Given the description of an element on the screen output the (x, y) to click on. 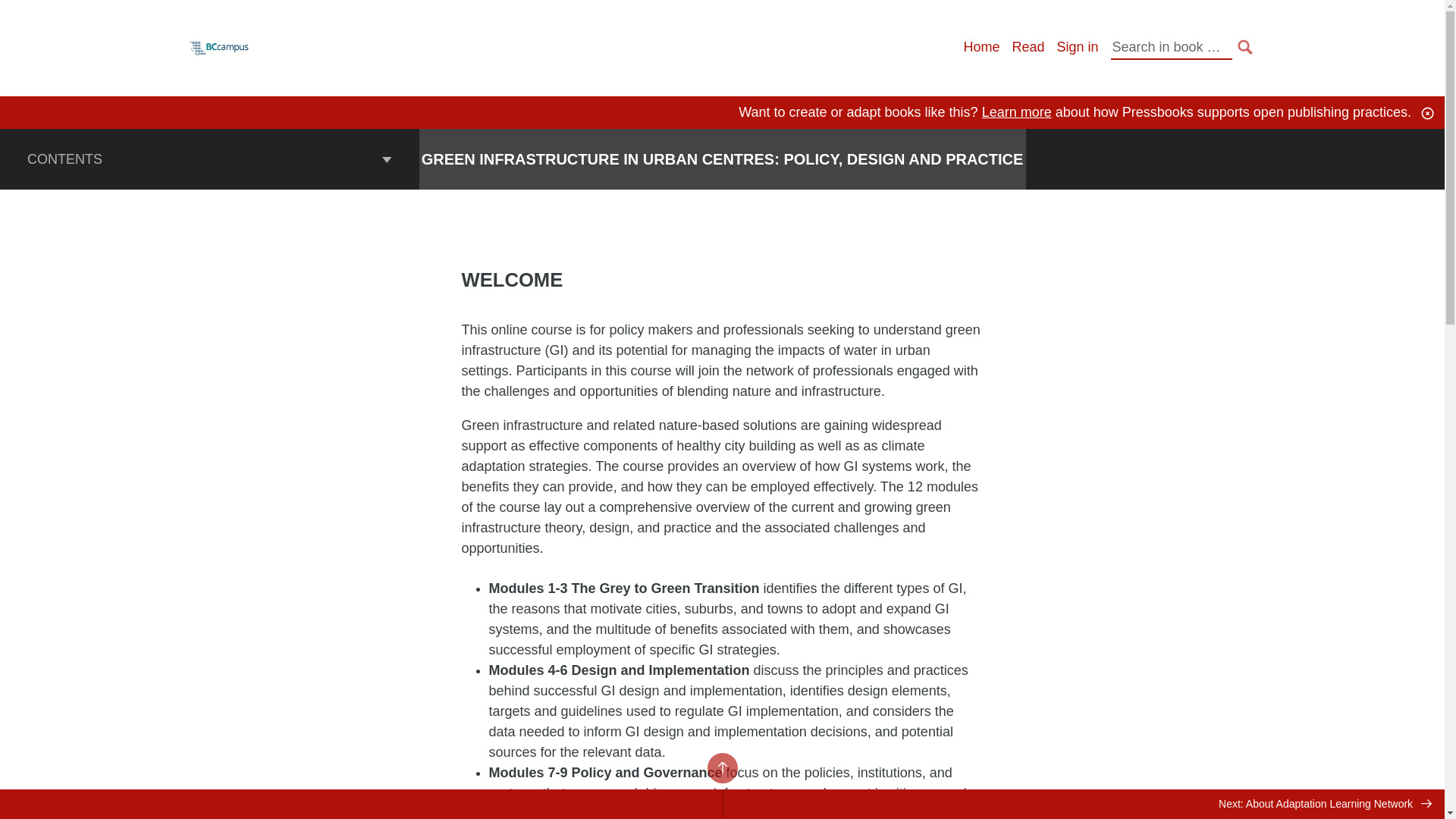
Home (980, 46)
CONTENTS (209, 158)
Learn more (1016, 111)
Sign in (1077, 46)
Read (1027, 46)
BACK TO TOP (721, 767)
